Given the description of an element on the screen output the (x, y) to click on. 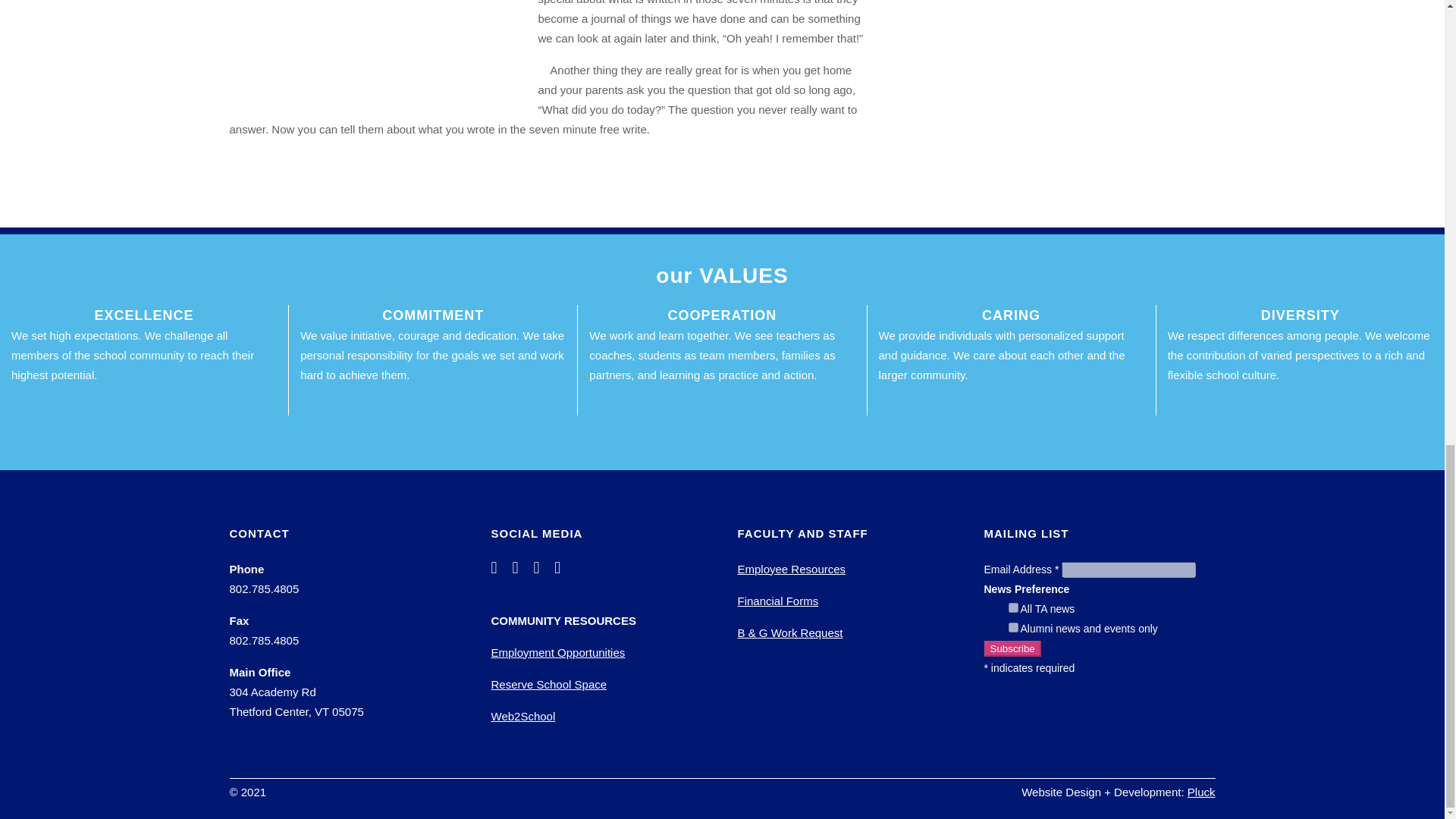
Employment Opportunities (559, 652)
2 (1013, 627)
Subscribe (1012, 648)
1 (1013, 607)
